Given the description of an element on the screen output the (x, y) to click on. 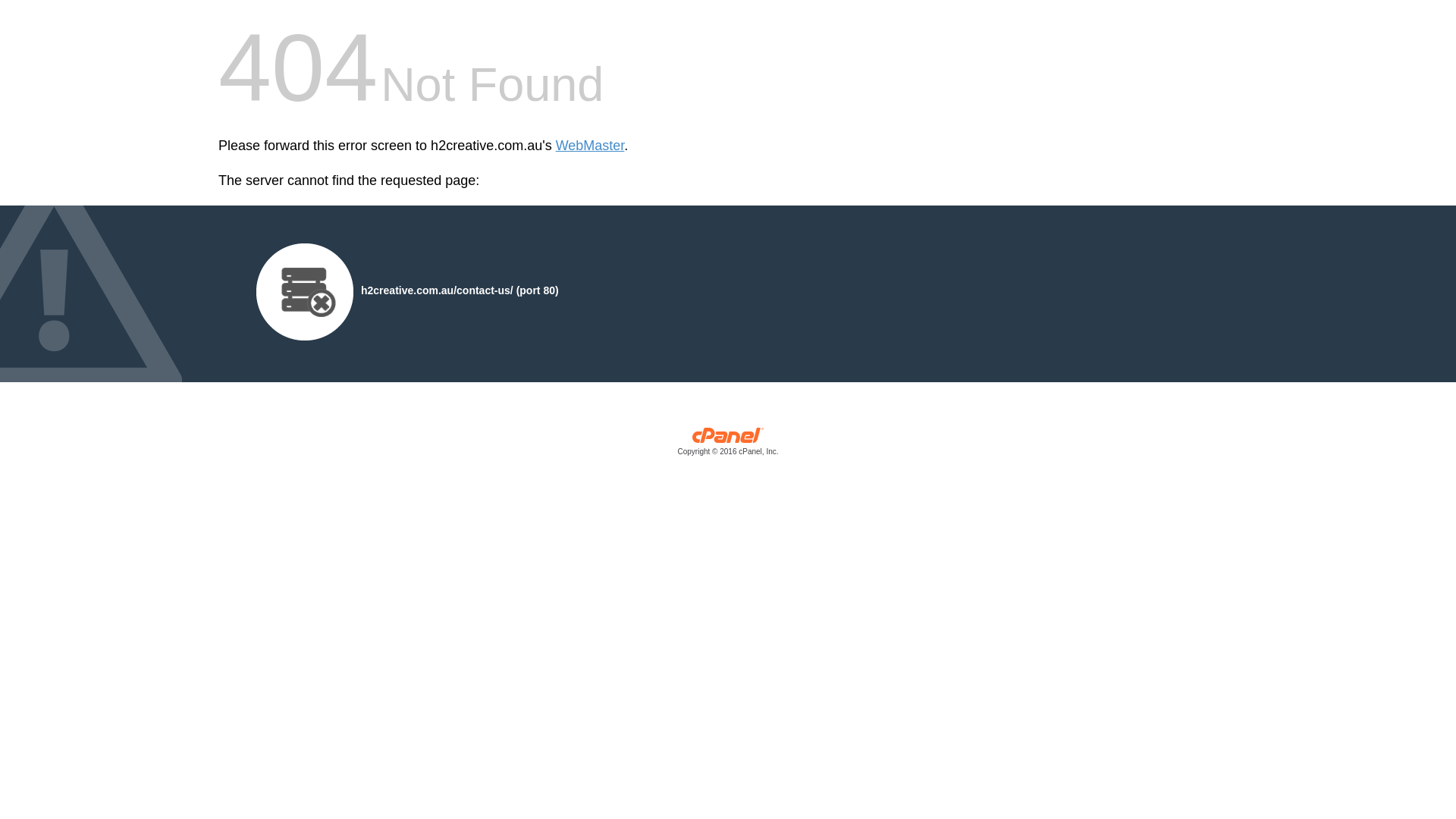
WebMaster Element type: text (589, 145)
